Given the description of an element on the screen output the (x, y) to click on. 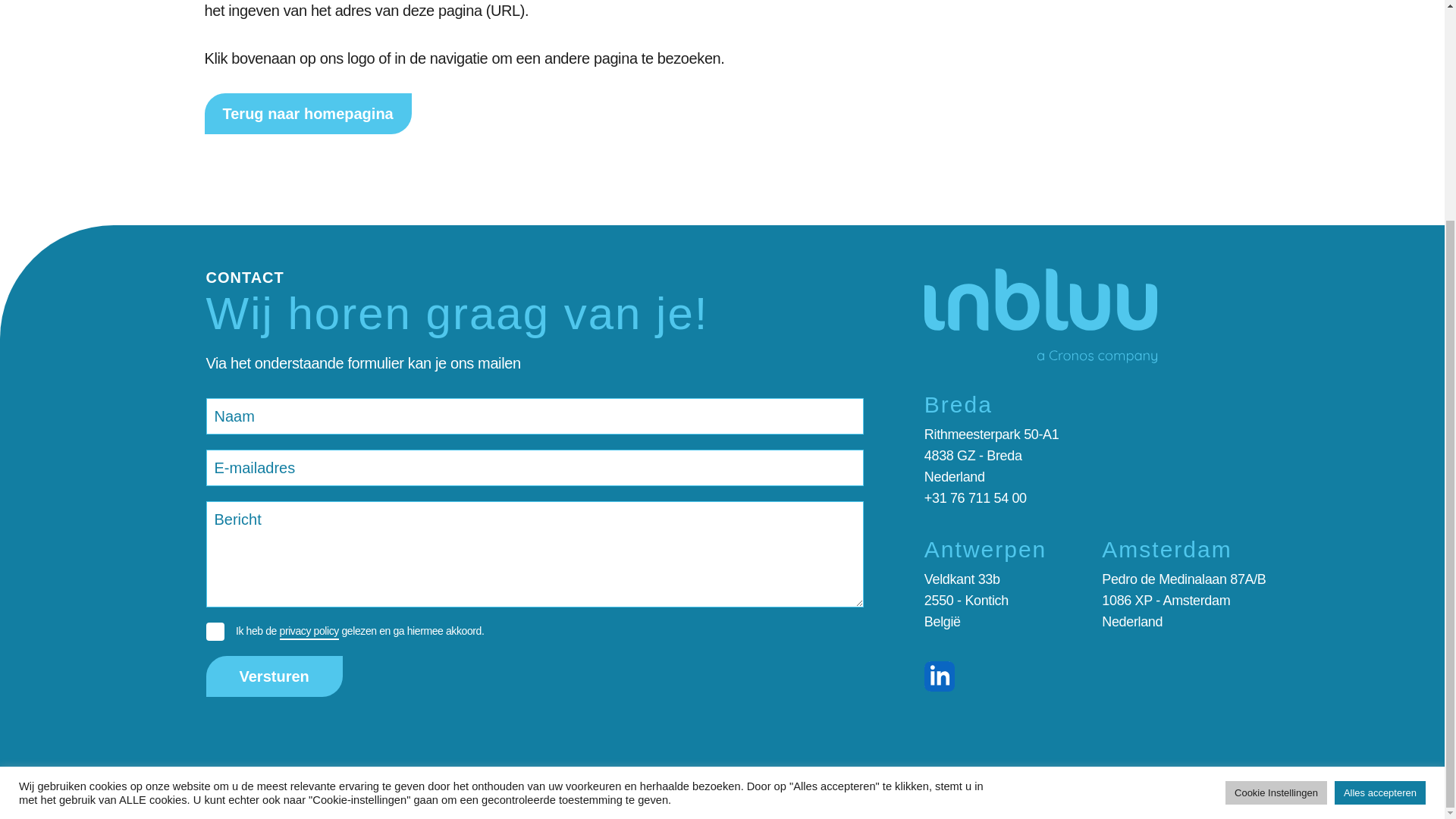
Terug naar homepagina (308, 113)
Versturen (274, 676)
Privacy (227, 794)
Cookies (321, 794)
Versturen (274, 676)
Terug naar homepagina (308, 113)
Alles accepteren (1380, 499)
Cookie Instellingen (1275, 499)
privacy policy (308, 631)
